Given the description of an element on the screen output the (x, y) to click on. 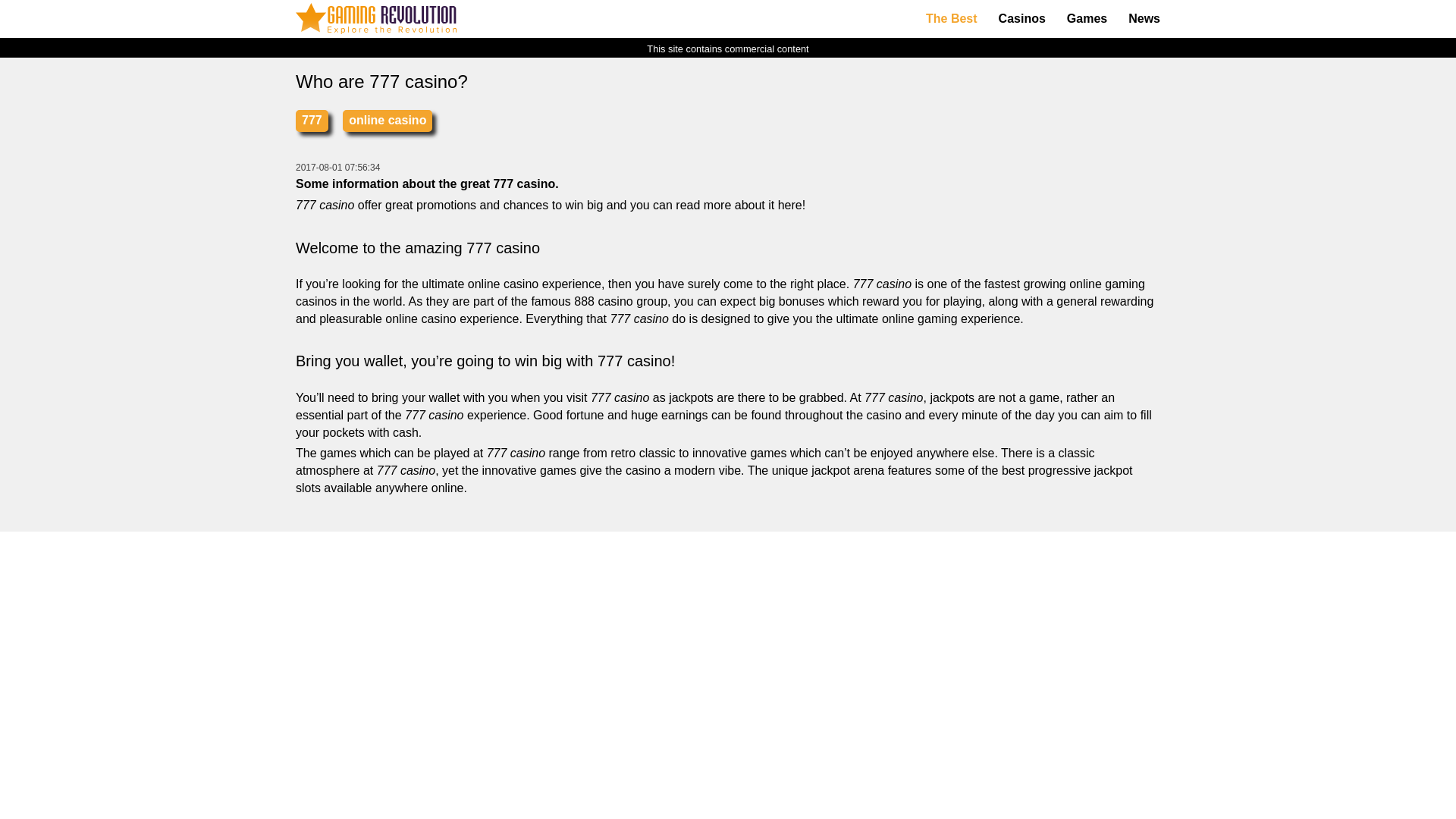
online casino (387, 120)
Casinos (1022, 19)
News (1144, 19)
777 (312, 120)
The Best (951, 19)
Games (1087, 19)
